Given the description of an element on the screen output the (x, y) to click on. 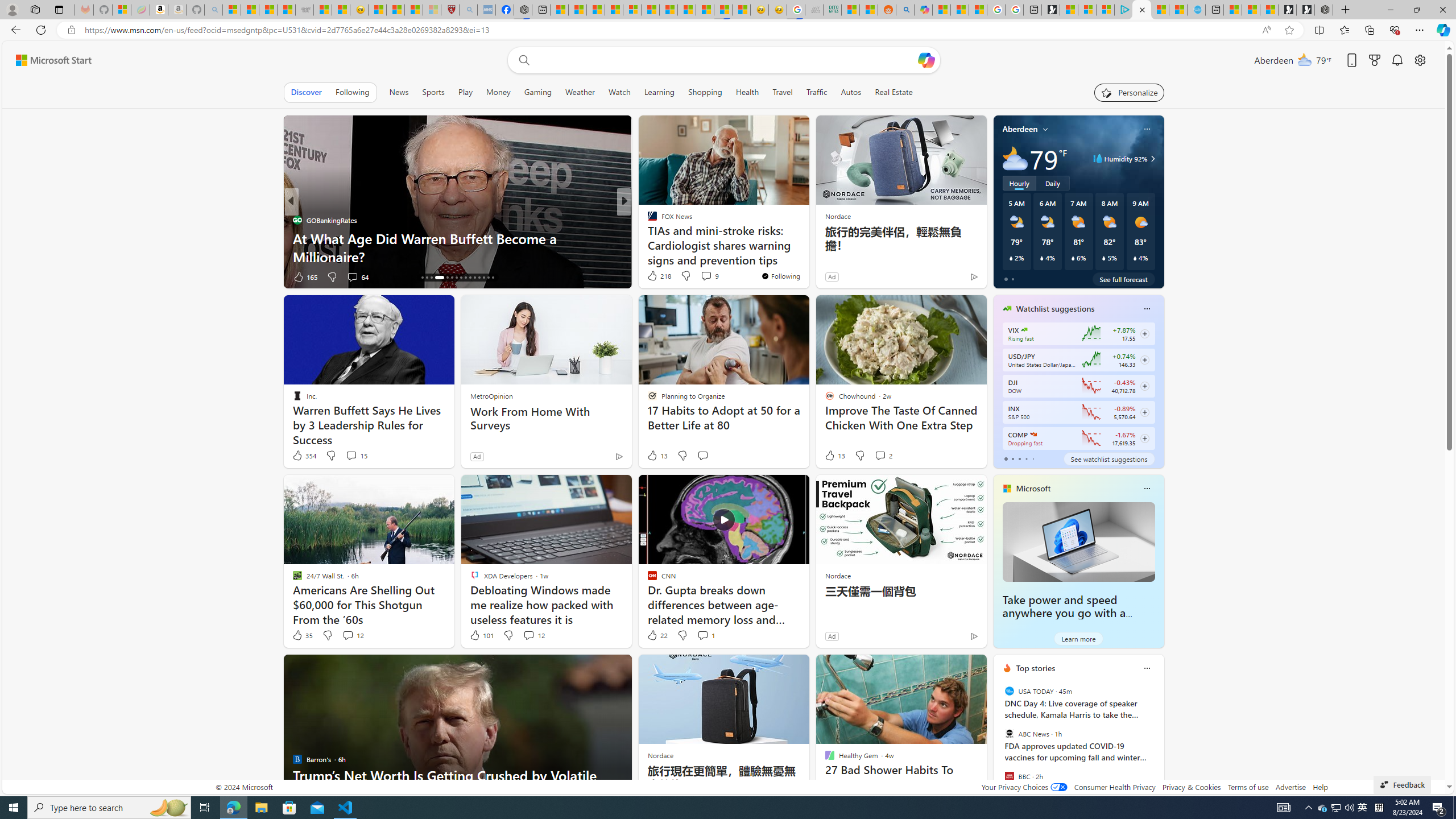
View comments 23 Comment (707, 276)
View comments 9 Comment (709, 275)
ABC News (1008, 733)
See full forecast (1123, 278)
View comments 104 Comment (703, 276)
Hide this story (952, 668)
These 3 Stocks Pay You More Than 5% to Own Them (457, 256)
